Given the description of an element on the screen output the (x, y) to click on. 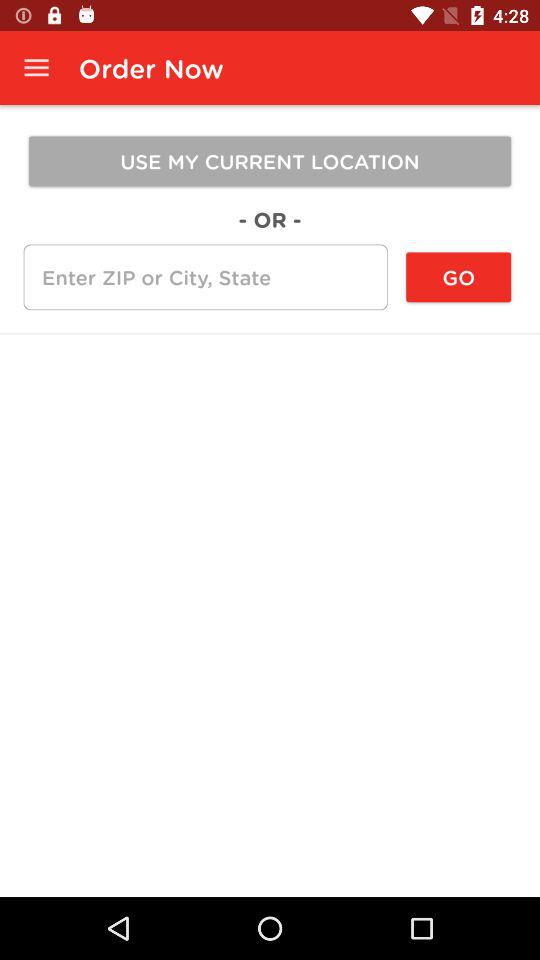
click the go at the top right corner (458, 277)
